Given the description of an element on the screen output the (x, y) to click on. 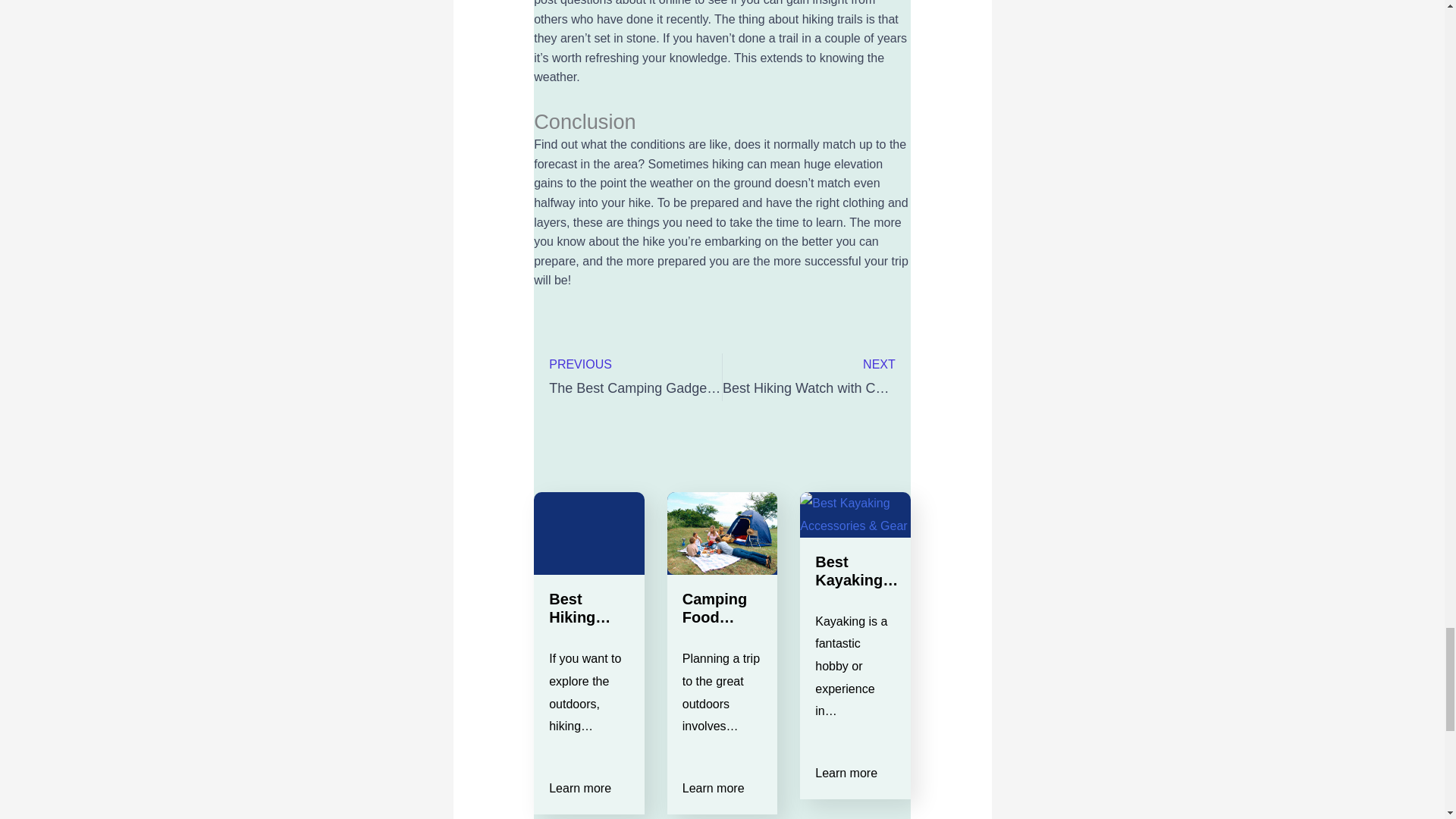
Learn more (846, 773)
Learn more (816, 376)
Learn more (579, 788)
